Given the description of an element on the screen output the (x, y) to click on. 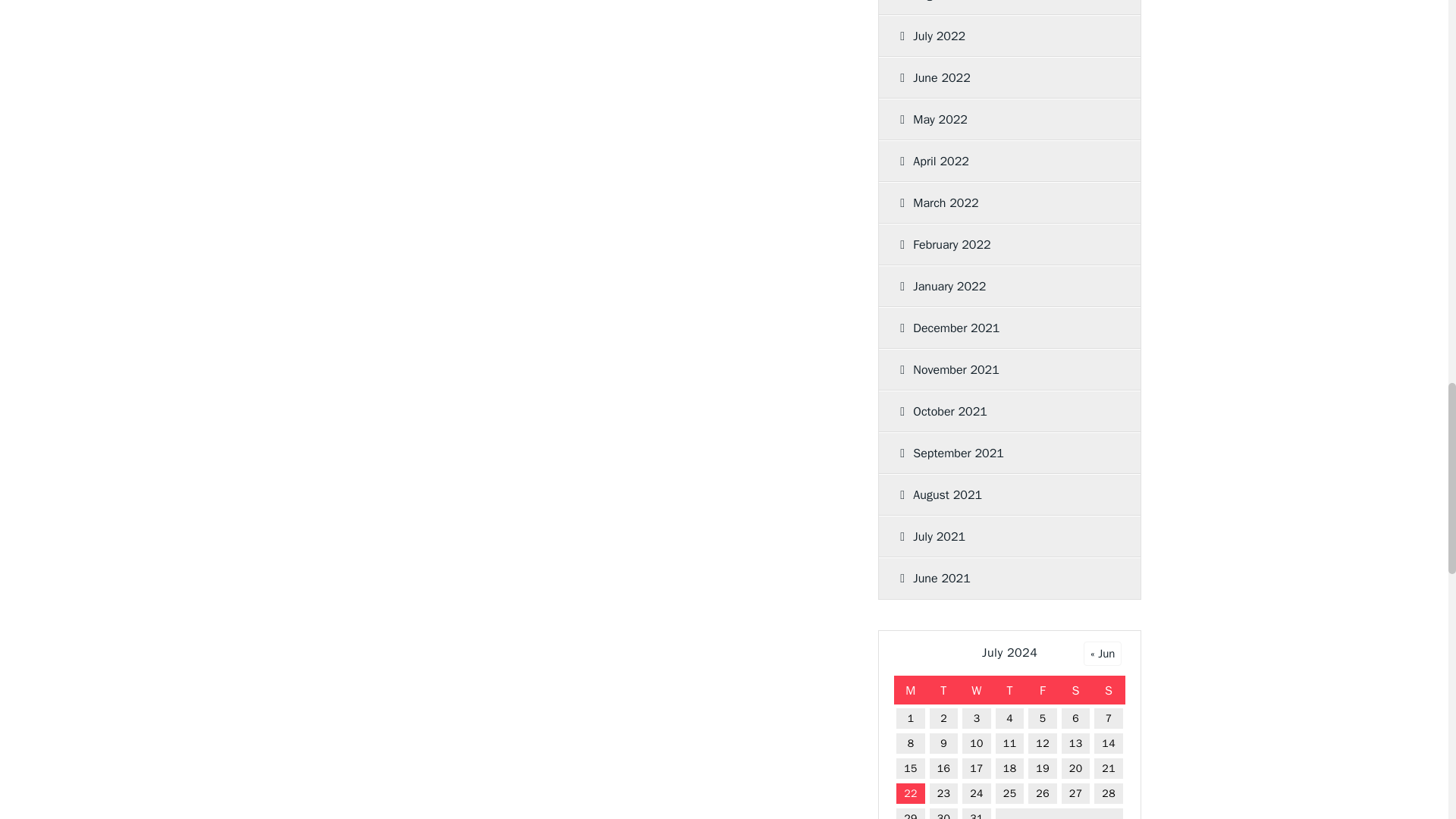
Friday (1042, 690)
Tuesday (943, 690)
Sunday (1108, 690)
Thursday (1009, 690)
Wednesday (975, 690)
Monday (910, 690)
Saturday (1076, 690)
